Given the description of an element on the screen output the (x, y) to click on. 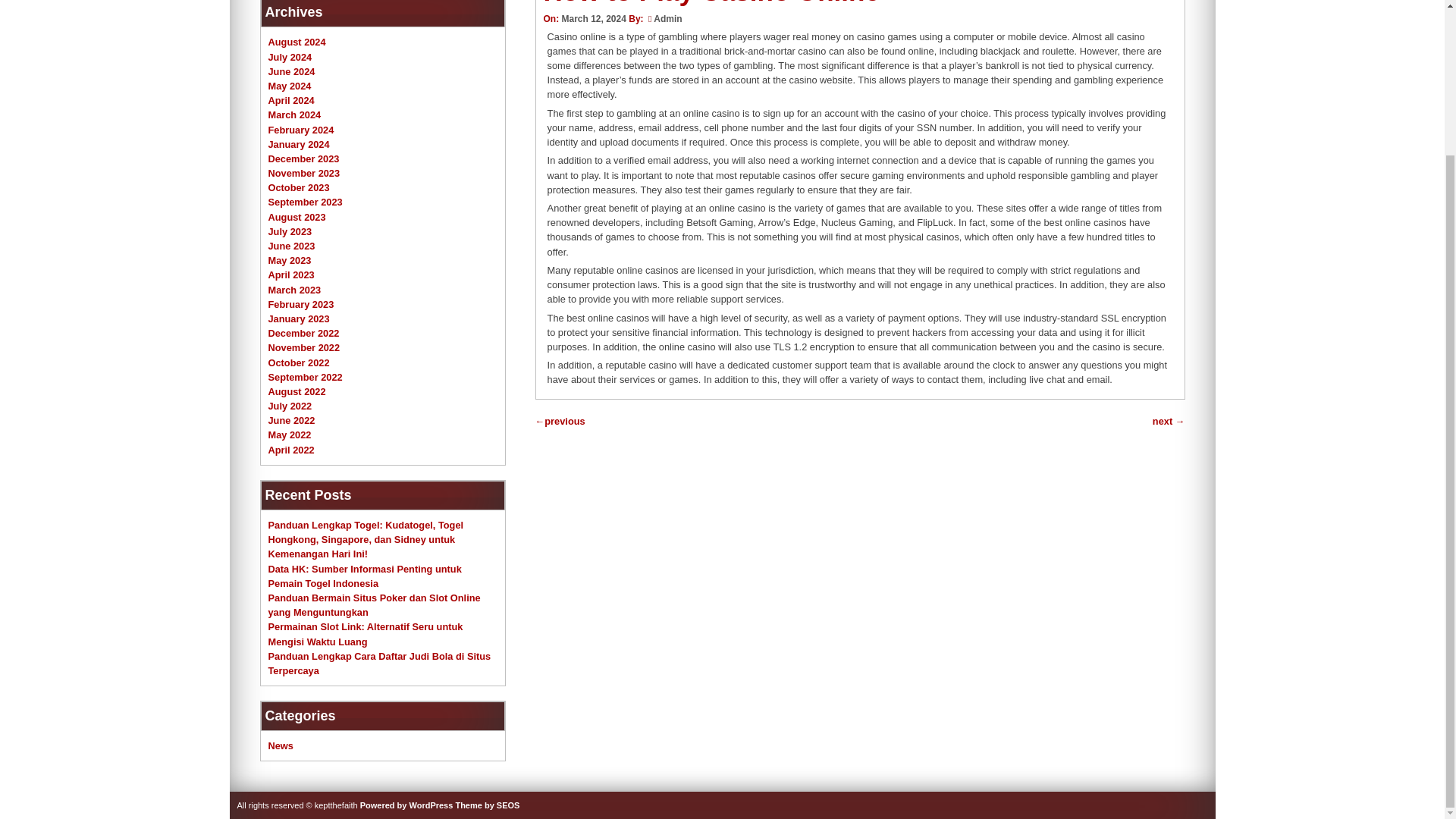
June 2024 (291, 71)
March 2024 (294, 114)
July 2022 (290, 405)
January 2023 (298, 318)
November 2023 (303, 173)
March 2023 (294, 289)
April 2022 (290, 449)
October 2022 (298, 361)
